Given the description of an element on the screen output the (x, y) to click on. 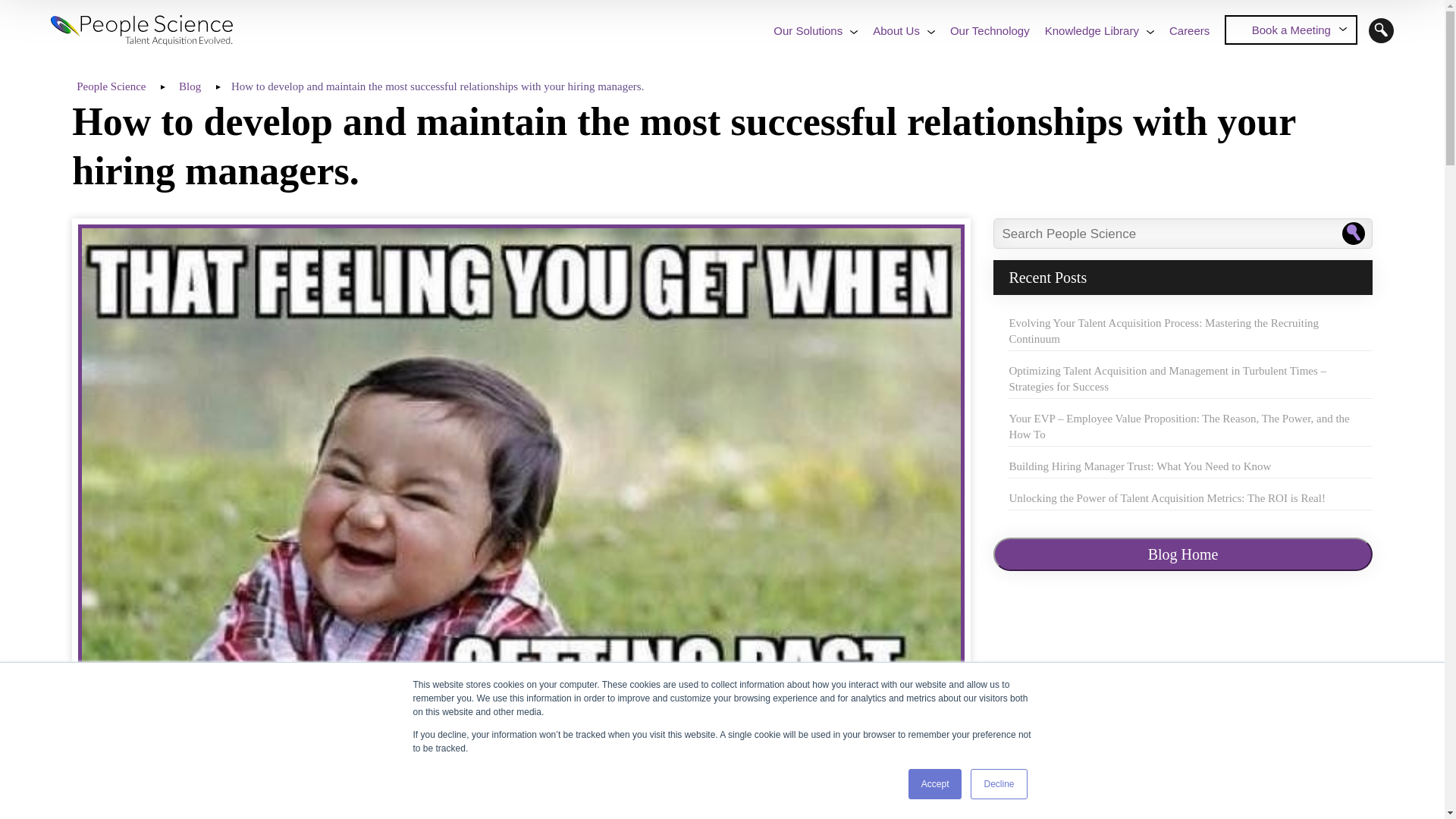
Our Solutions (808, 30)
About Us (896, 30)
Decline (998, 784)
Accept (935, 784)
